Given the description of an element on the screen output the (x, y) to click on. 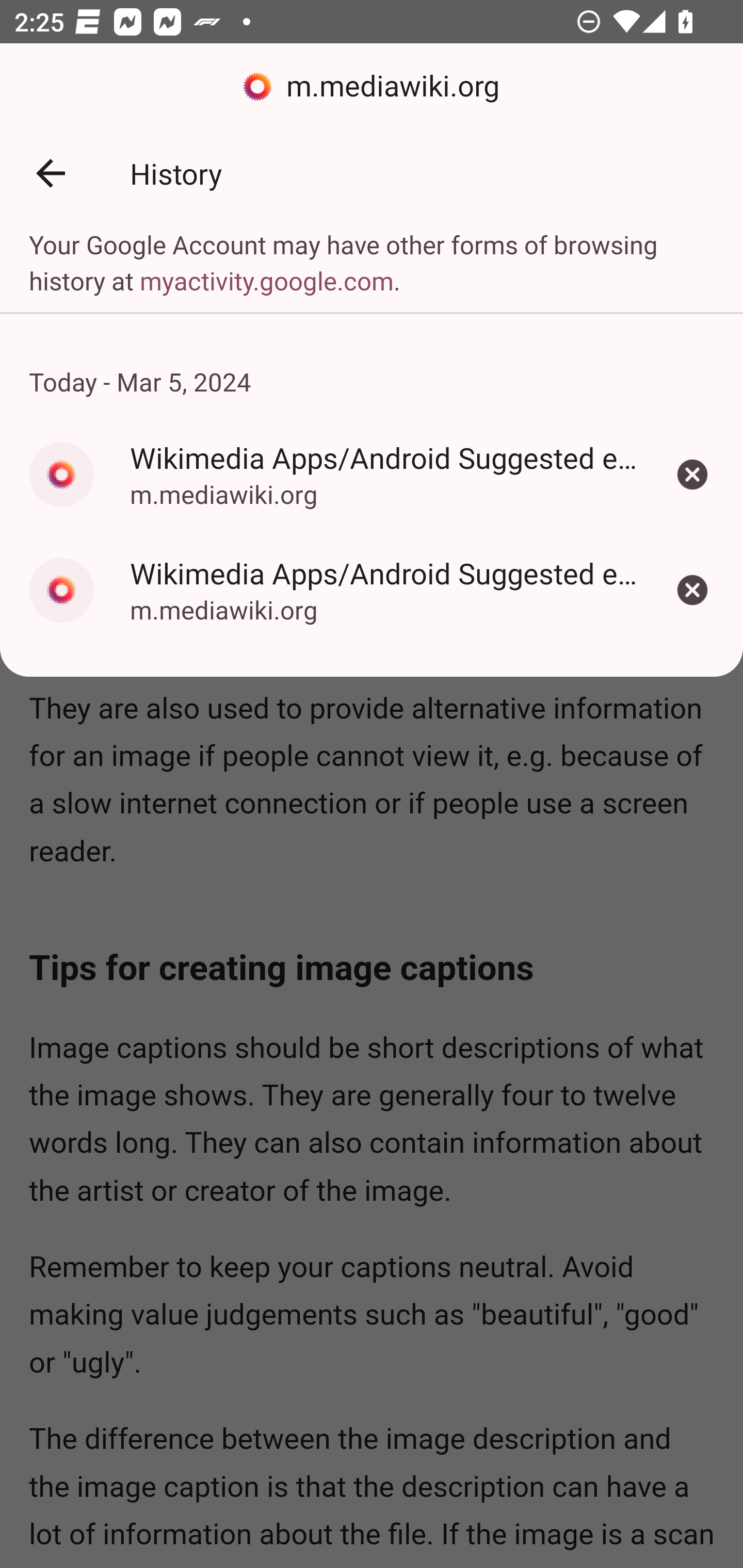
m.mediawiki.org (371, 86)
Back (50, 173)
